Given the description of an element on the screen output the (x, y) to click on. 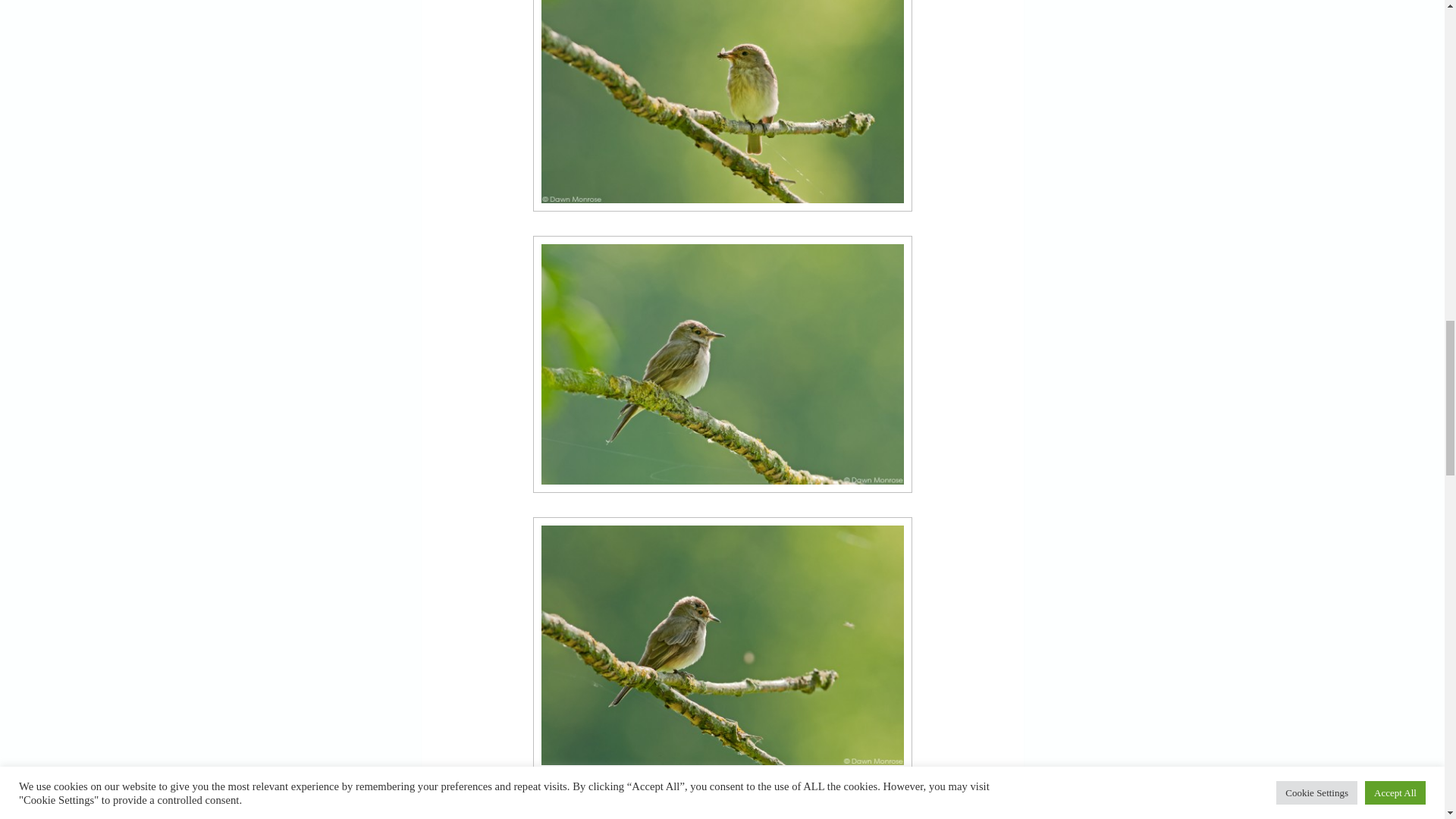
SpottedFlycatcher100612DM4724 (721, 105)
